Given the description of an element on the screen output the (x, y) to click on. 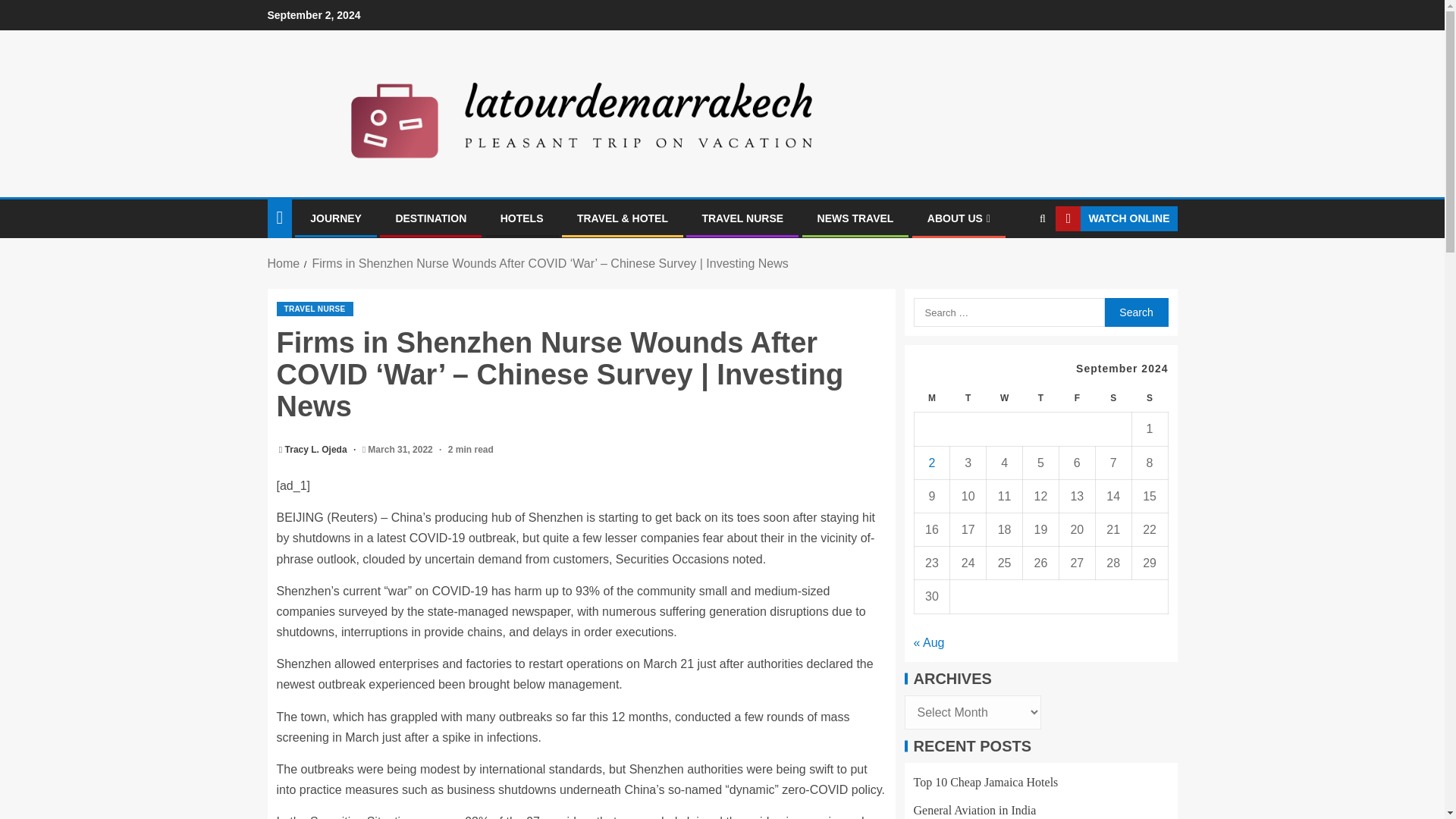
Search (1135, 312)
ABOUT US (958, 218)
Friday (1076, 398)
Wednesday (1005, 398)
TRAVEL NURSE (314, 309)
HOTELS (521, 218)
JOURNEY (335, 218)
WATCH ONLINE (1115, 218)
NEWS TRAVEL (854, 218)
Thursday (1041, 398)
